Given the description of an element on the screen output the (x, y) to click on. 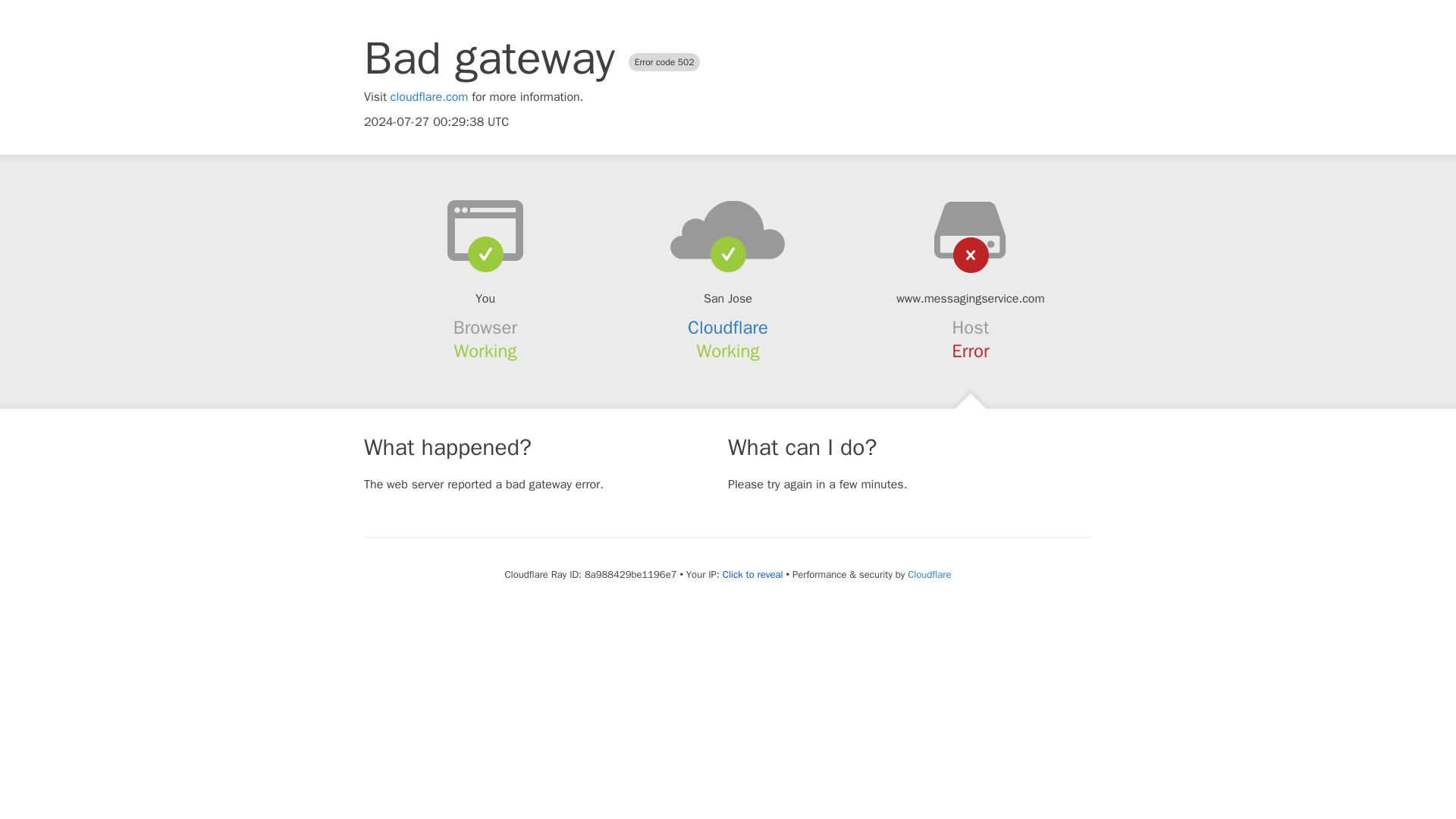
Cloudflare (727, 327)
Click to reveal (752, 574)
Cloudflare (928, 574)
cloudflare.com (429, 96)
